Given the description of an element on the screen output the (x, y) to click on. 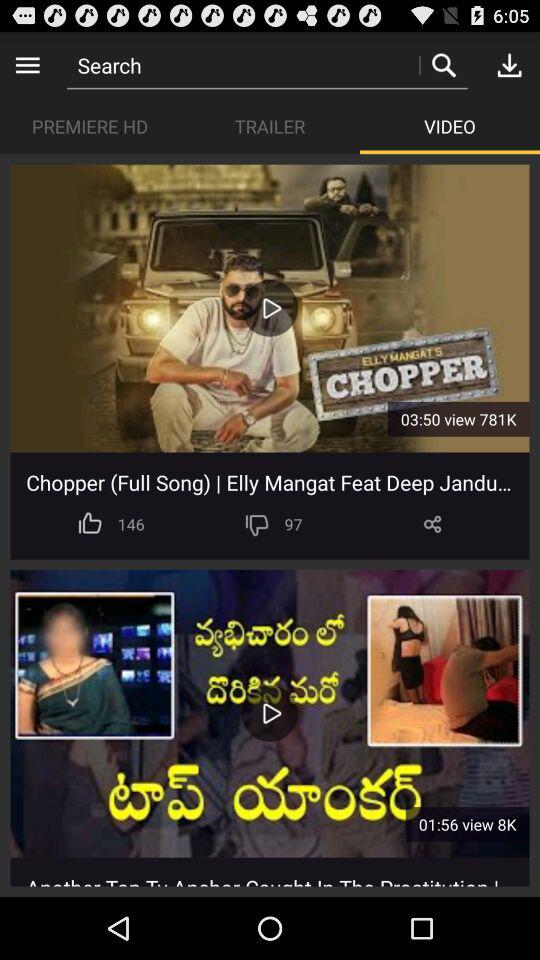
turn off item above chopper full song (269, 307)
